Given the description of an element on the screen output the (x, y) to click on. 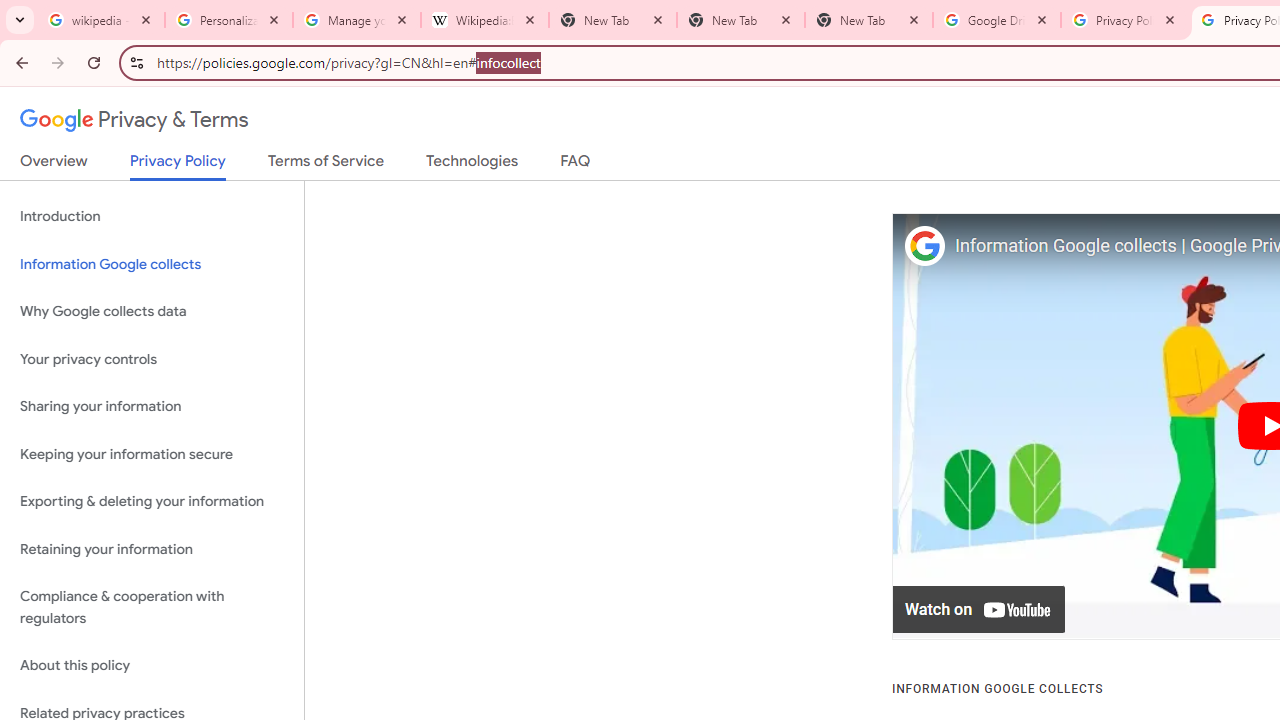
Retaining your information (152, 548)
Sharing your information (152, 407)
New Tab (741, 20)
Wikipedia:Edit requests - Wikipedia (485, 20)
Introduction (152, 216)
